Given the description of an element on the screen output the (x, y) to click on. 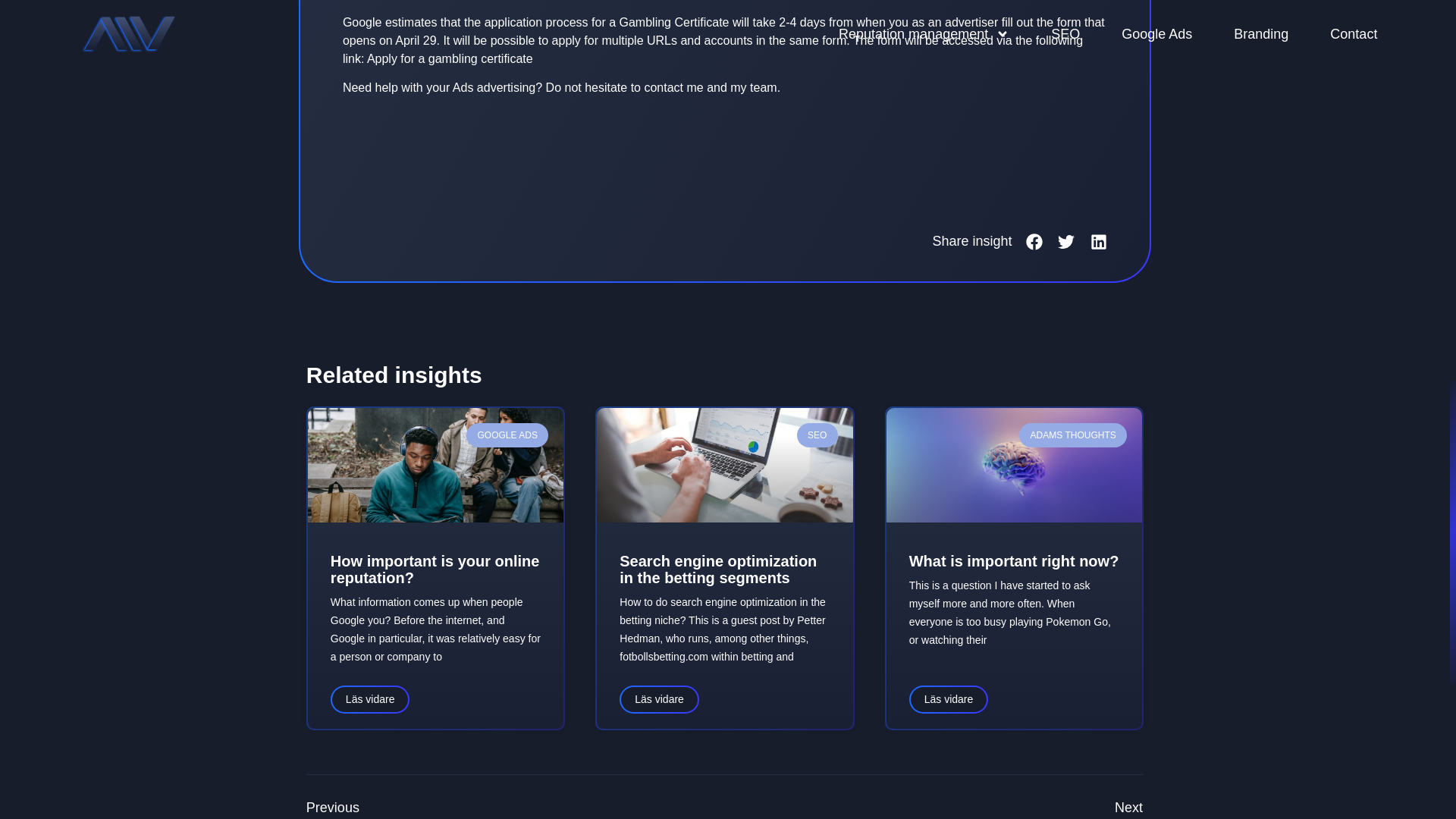
Apply for a gambling certificate (449, 58)
How important is your online reputation? (435, 569)
